Given the description of an element on the screen output the (x, y) to click on. 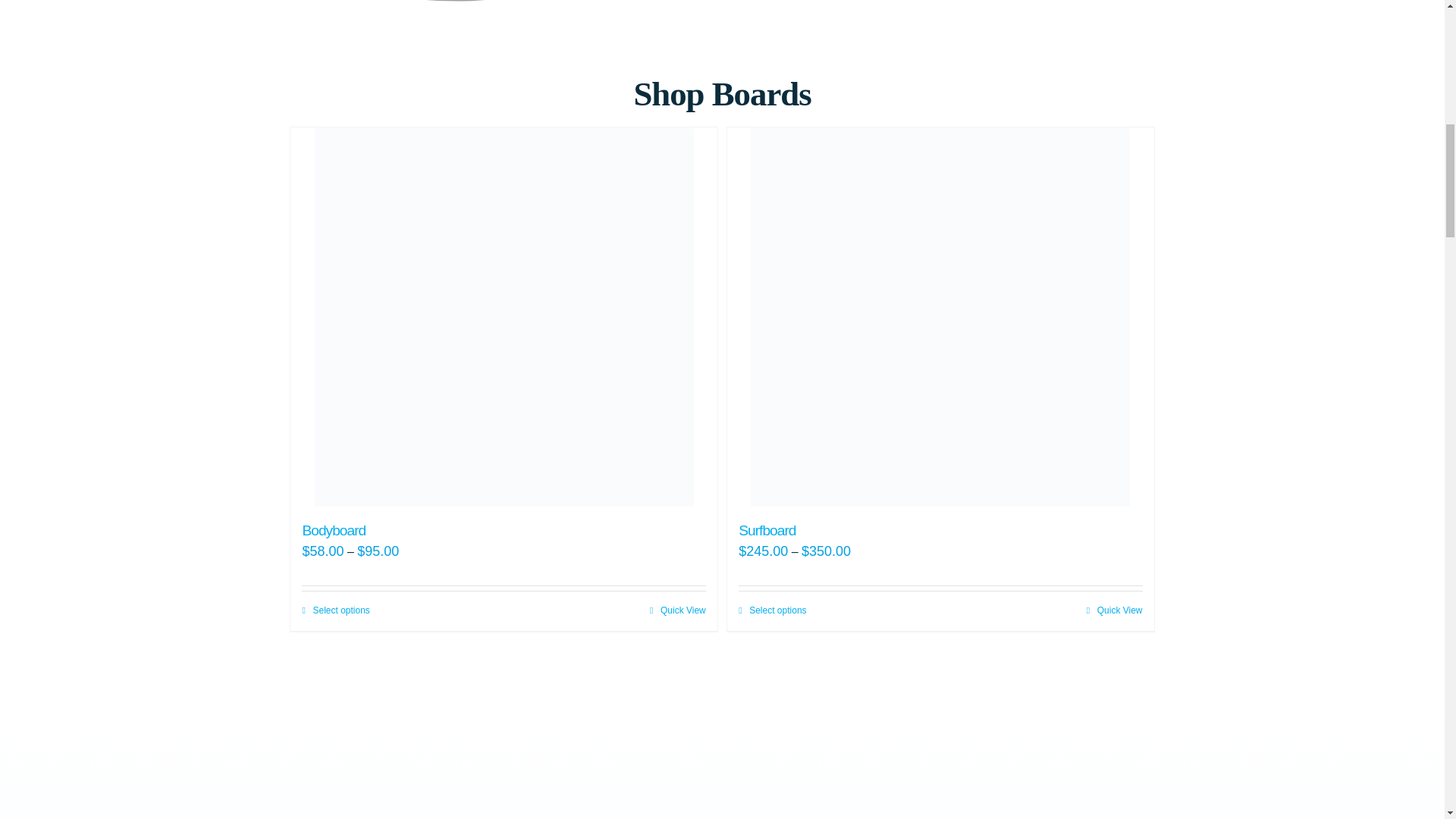
Quick View (1114, 610)
Select options (772, 610)
Quick View (677, 610)
Surfboard (766, 530)
Bodyboard (333, 530)
Select options (335, 610)
